Given the description of an element on the screen output the (x, y) to click on. 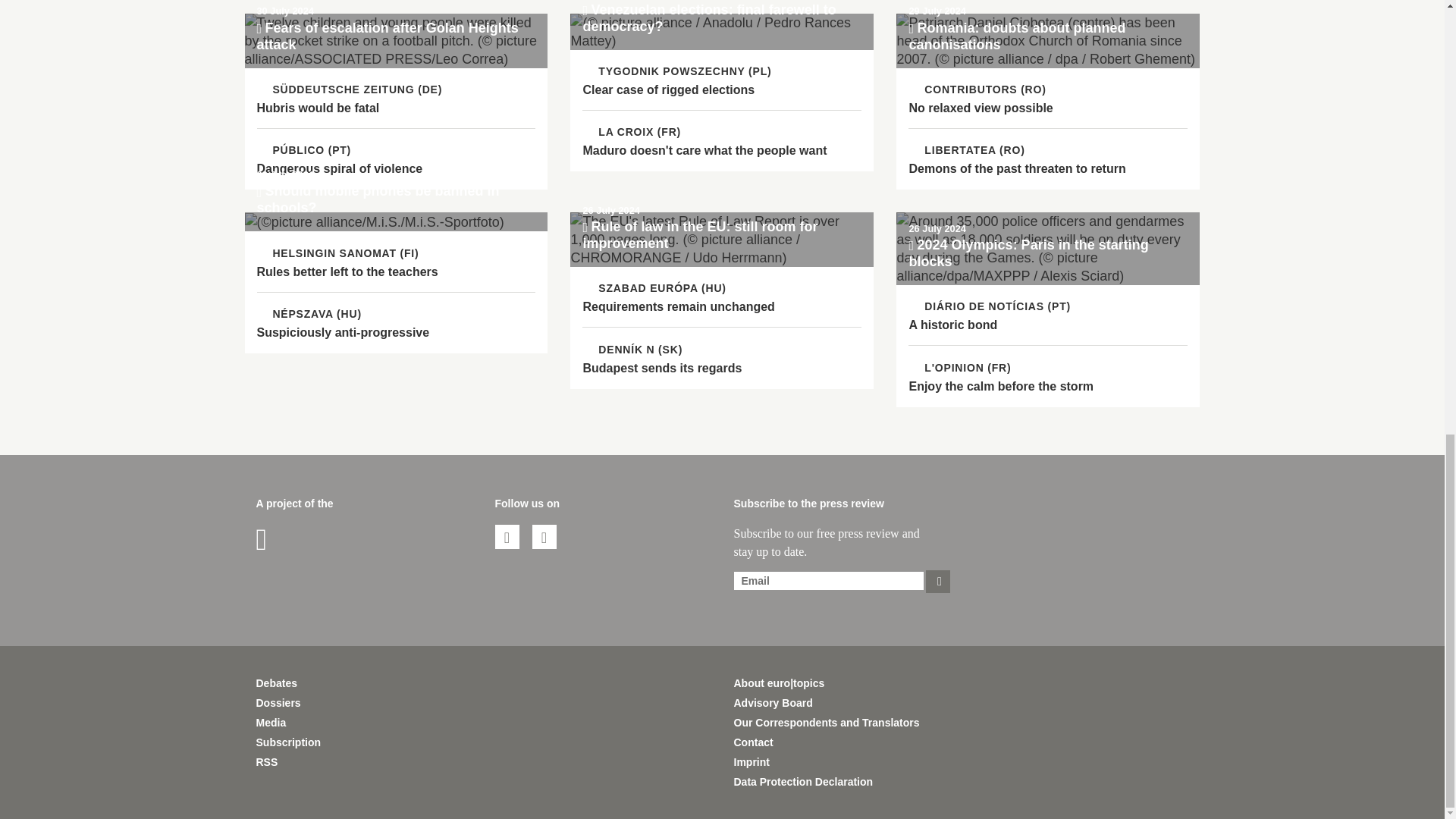
Tygodnik Powszechny (676, 70)
Fears of escalation after Golan Heights attack (395, 40)
Romania: doubts about planned canonisations (1047, 40)
La Croix (631, 131)
Libertatea (966, 150)
Contributors (977, 89)
Venezuelan elections: final farewell to democracy? (721, 31)
